Given the description of an element on the screen output the (x, y) to click on. 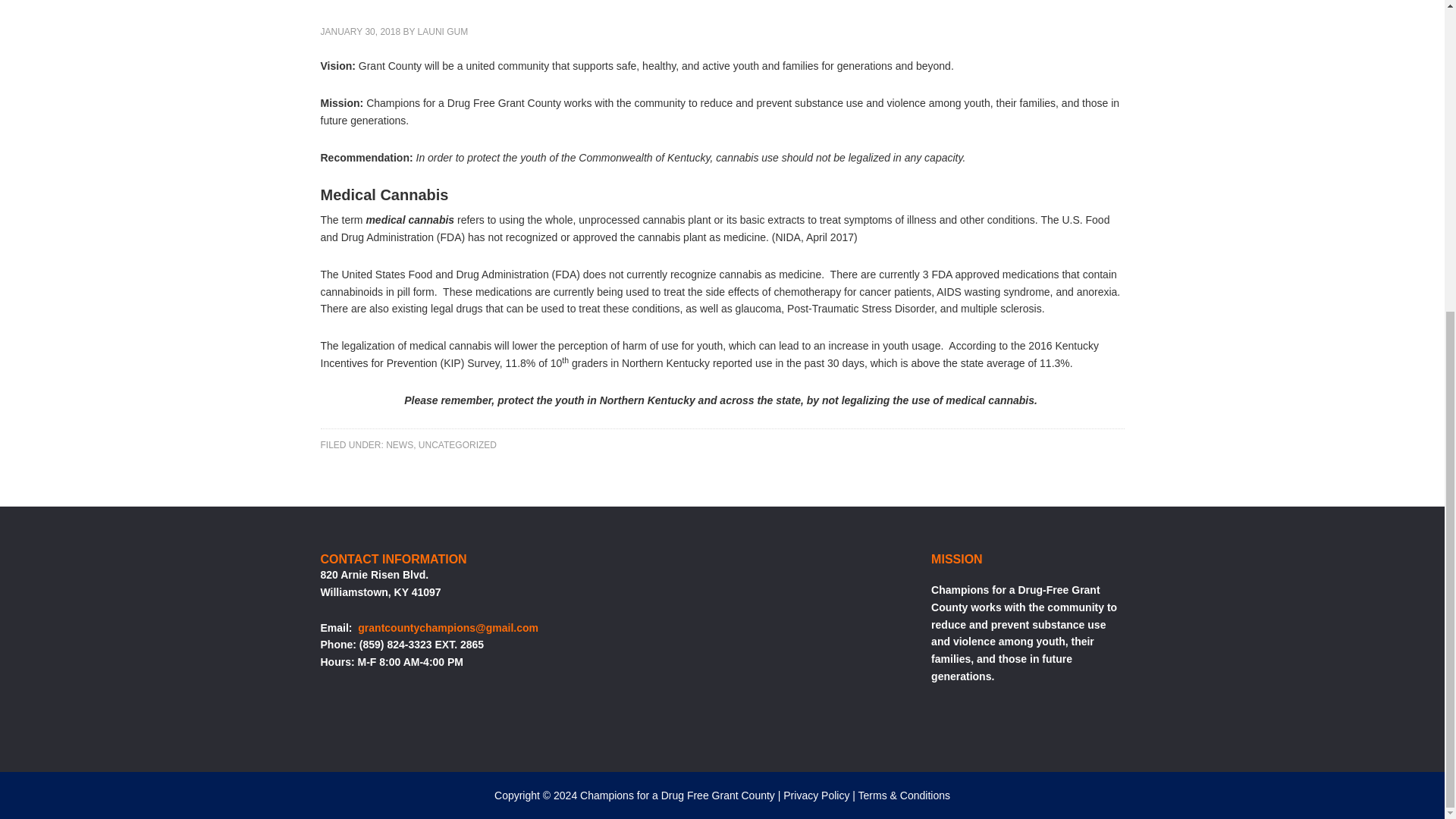
Privacy Policy (815, 795)
LAUNI GUM (442, 31)
NEWS (399, 444)
UNCATEGORIZED (457, 444)
